Given the description of an element on the screen output the (x, y) to click on. 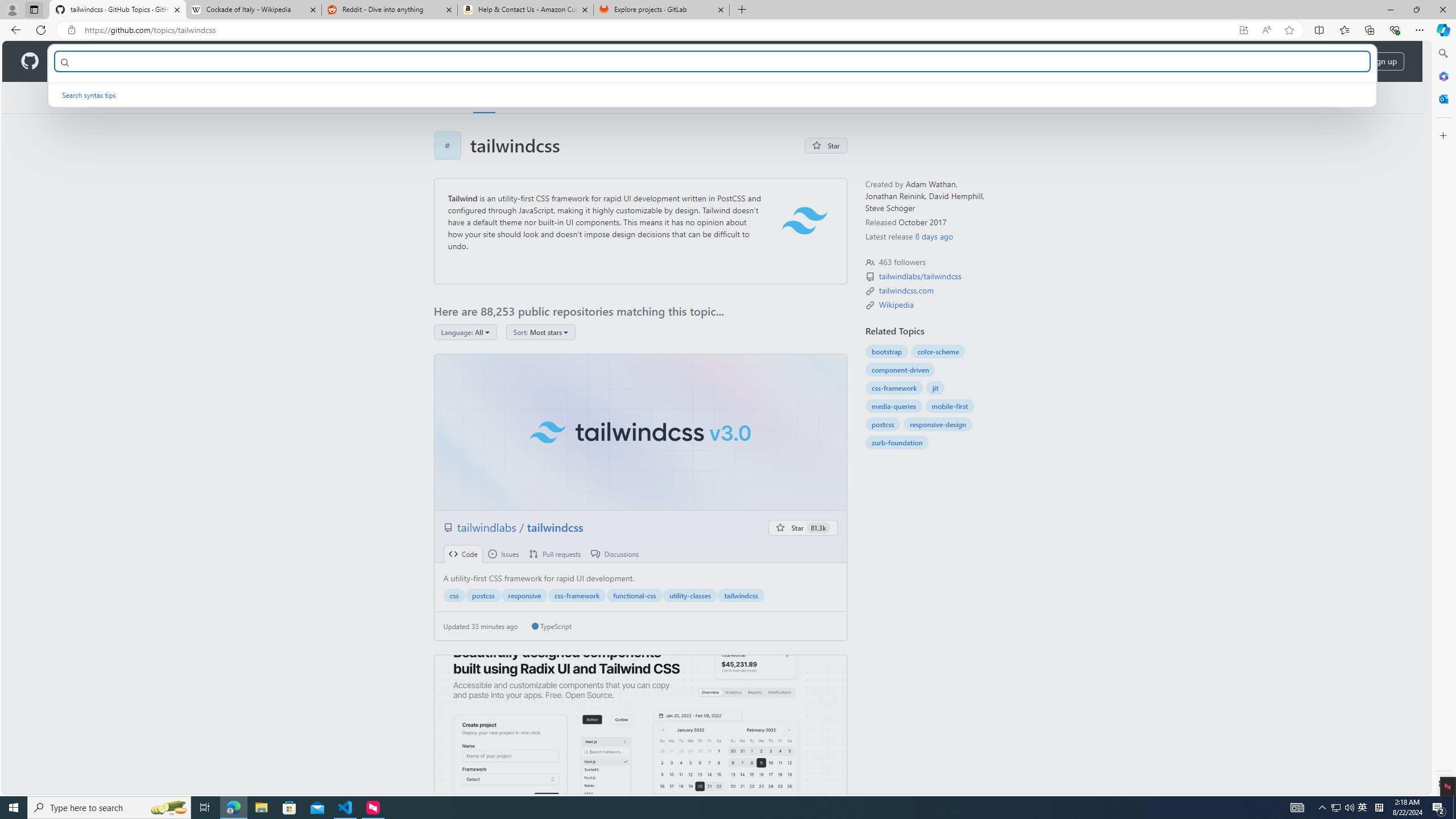
 Issues (502, 553)
color-scheme (938, 351)
TypeScript (551, 625)
component-driven (900, 369)
 Issues (502, 553)
 Code (462, 553)
Open Source (254, 60)
responsive-design (937, 423)
 Pull requests (555, 553)
tailwindlabs  (488, 526)
tailwindlabs/tailwindcss (920, 275)
